Given the description of an element on the screen output the (x, y) to click on. 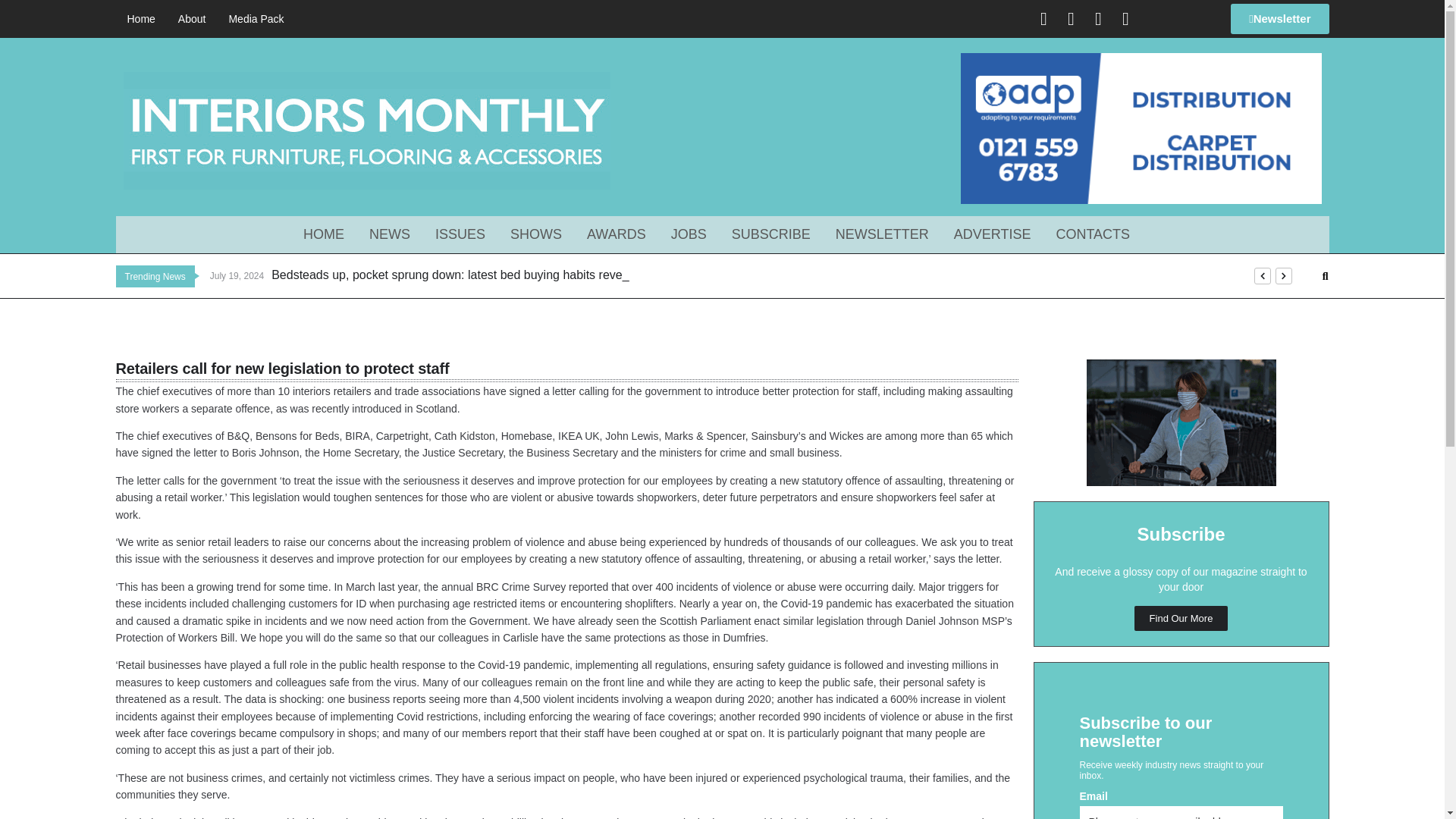
NEWS (395, 234)
Newsletter (1278, 19)
SUBSCRIBE (777, 234)
JOBS (694, 234)
About (191, 18)
HOME (328, 234)
Media Pack (255, 18)
NEWSLETTER (887, 234)
AWARDS (622, 234)
CONTACTS (1098, 234)
ADVERTISE (997, 234)
SHOWS (542, 234)
Home (140, 18)
ISSUES (465, 234)
